Given the description of an element on the screen output the (x, y) to click on. 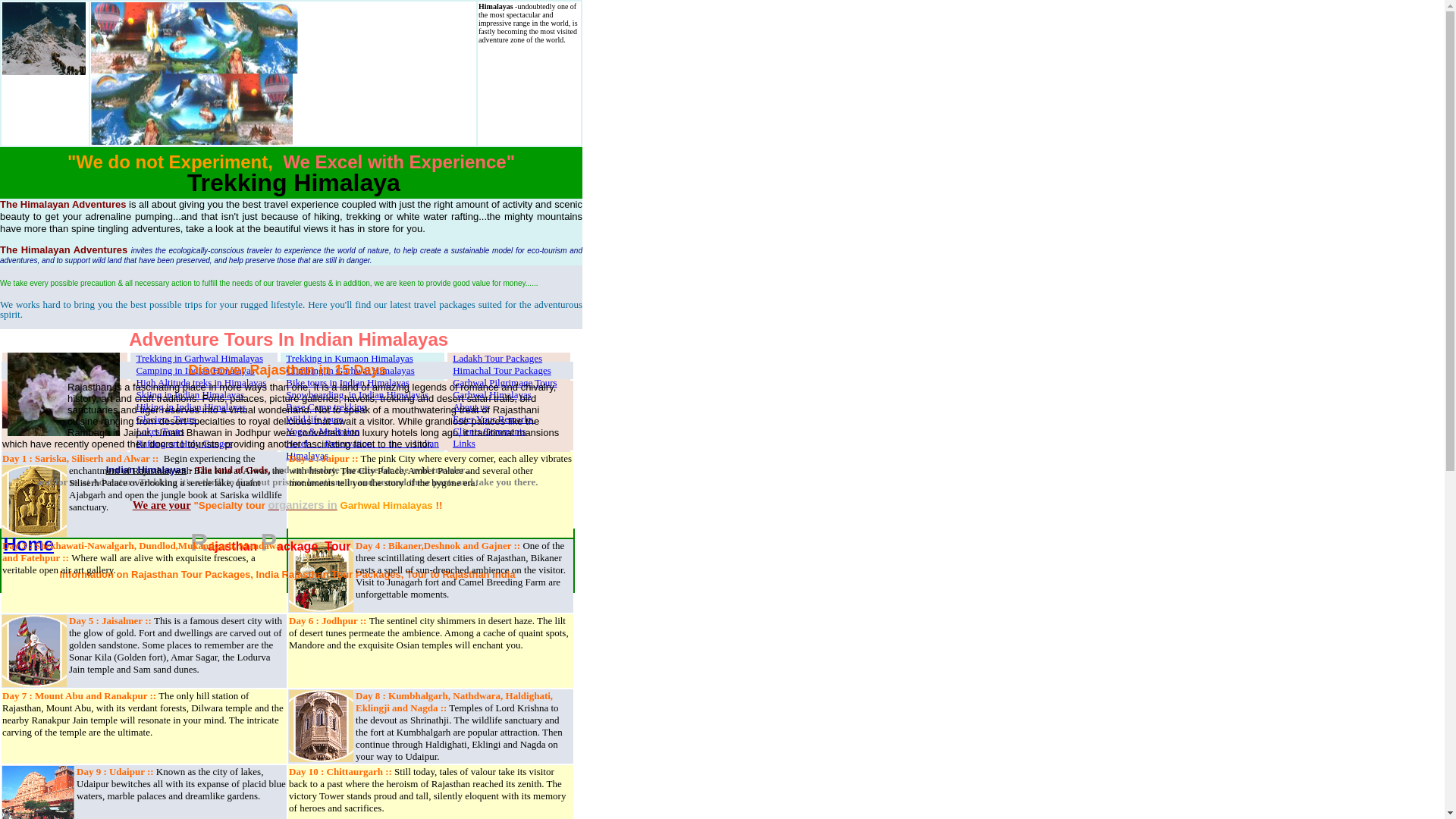
Himachal Tour Packages (501, 369)
Clients Comments (488, 430)
High Altitude treks in Himalayas (201, 382)
Lakes Tours (160, 430)
Rafting on Holy Ganges (184, 442)
Home (27, 543)
Ladakh Tour Packages (496, 357)
Glaciers  Tours  (167, 419)
Trekking in Garhwal Himalayas (199, 357)
Garhwal Himalayas (491, 394)
